Given the description of an element on the screen output the (x, y) to click on. 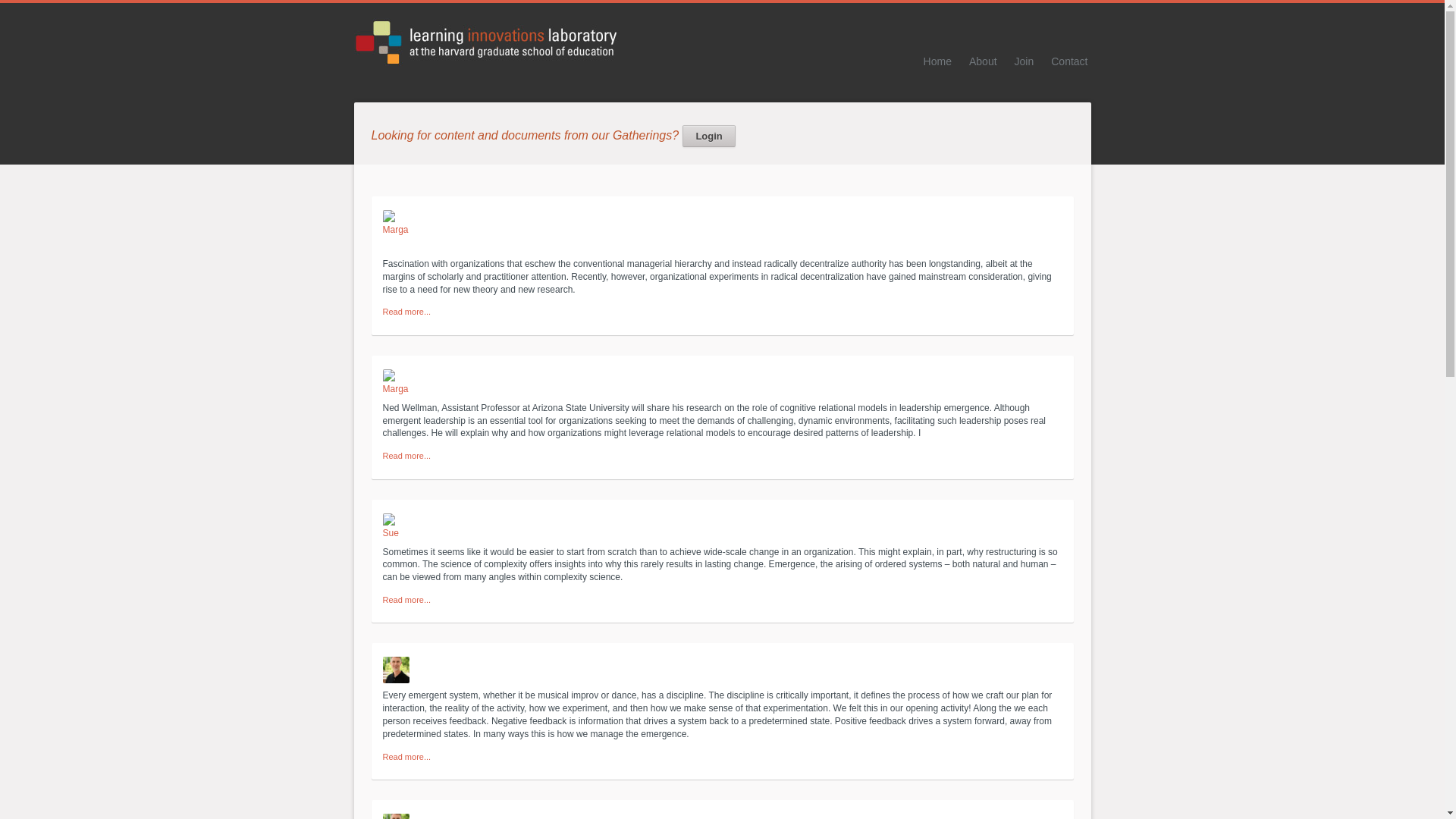
Read more... (405, 311)
About (983, 61)
Read more... (405, 455)
Contact (1069, 61)
Read more... (405, 756)
Read more... (405, 311)
Read more... (405, 599)
Join (1024, 61)
